Given the description of an element on the screen output the (x, y) to click on. 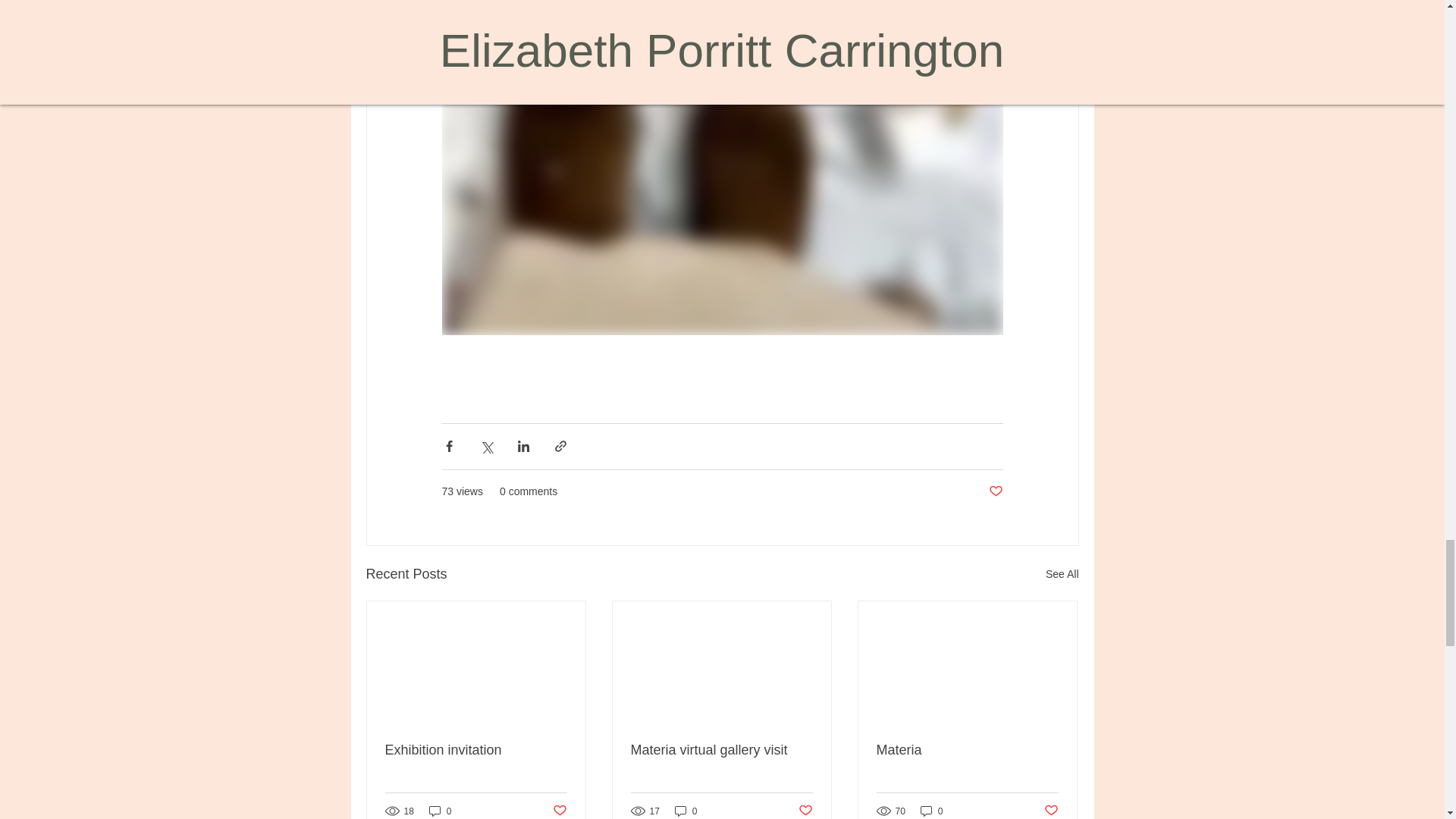
Materia virtual gallery visit (721, 750)
0 (931, 810)
Post not marked as liked (1050, 811)
See All (1061, 574)
Post not marked as liked (804, 811)
Post not marked as liked (558, 811)
0 (685, 810)
Exhibition invitation (476, 750)
Materia (967, 750)
0 (440, 810)
Post not marked as liked (995, 491)
